Given the description of an element on the screen output the (x, y) to click on. 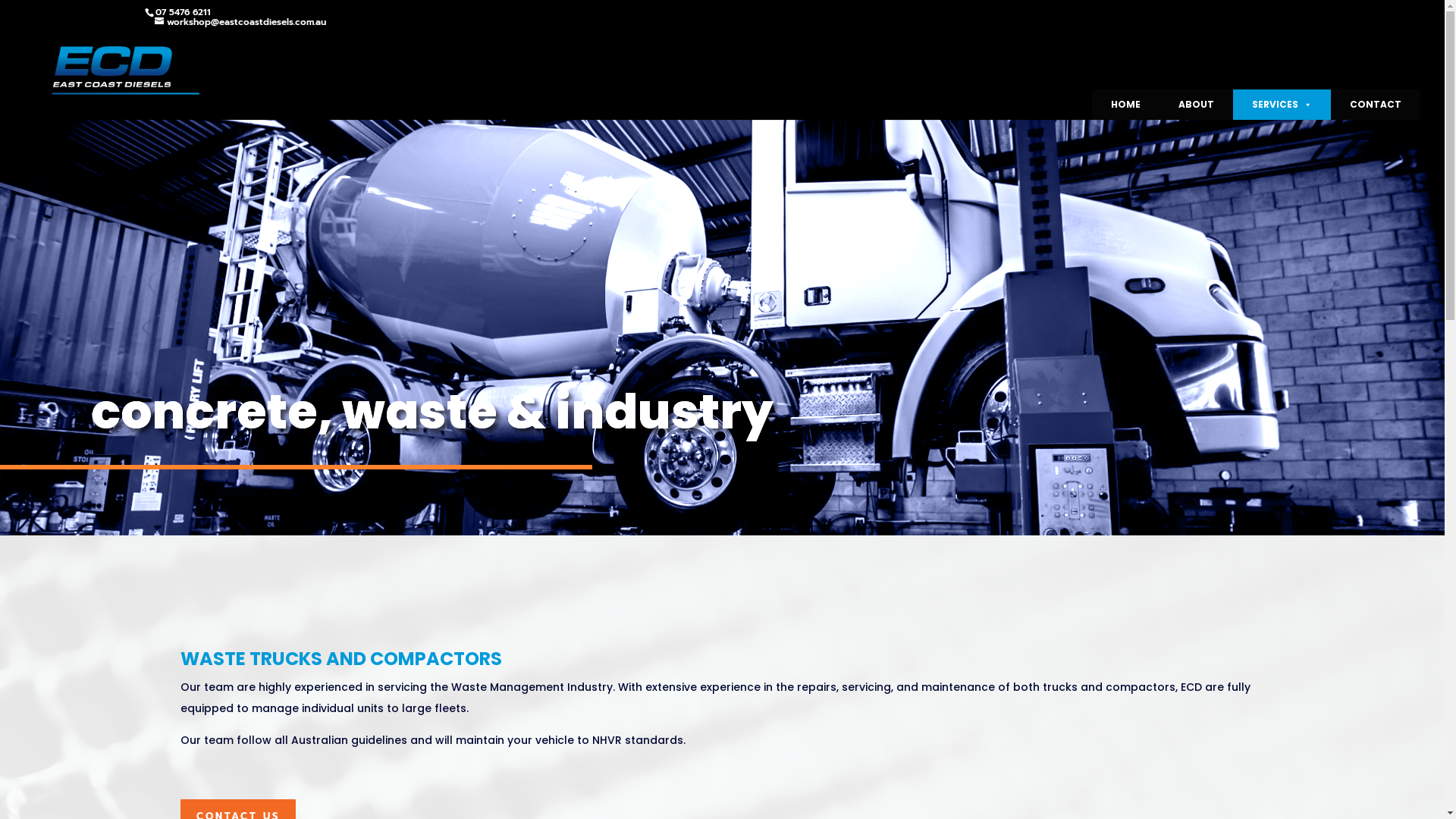
HOME Element type: text (1125, 104)
workshop@eastcoastdiesels.com.au Element type: text (240, 21)
SERVICES Element type: text (1281, 104)
07 5476 6211 Element type: text (182, 11)
CONTACT Element type: text (1375, 104)
ABOUT Element type: text (1196, 104)
